Given the description of an element on the screen output the (x, y) to click on. 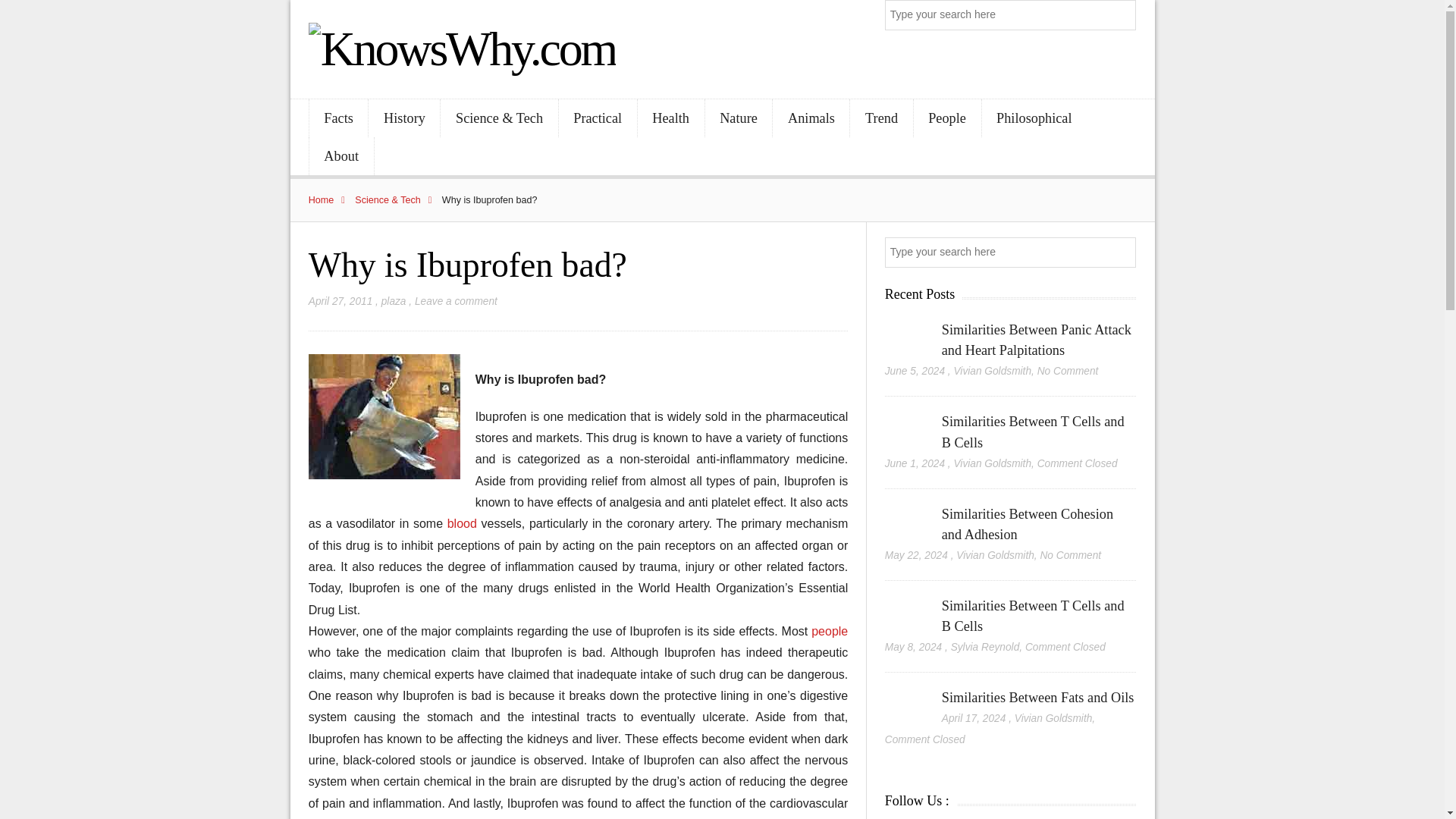
About (341, 156)
Facts (338, 118)
Leave a comment (455, 301)
Why? (384, 416)
Practical (598, 118)
blood (463, 522)
Health (670, 118)
WHY DO GOOD THINGS HAPPEN TO BAD PEOPLE? (828, 631)
WHY IS TYPE O BLOOD THE UNIVERSAL DONOR? (463, 522)
plaza (393, 301)
Animals (810, 118)
Nature (738, 118)
Posts by plaza (393, 301)
Search (1123, 15)
people (828, 631)
